Given the description of an element on the screen output the (x, y) to click on. 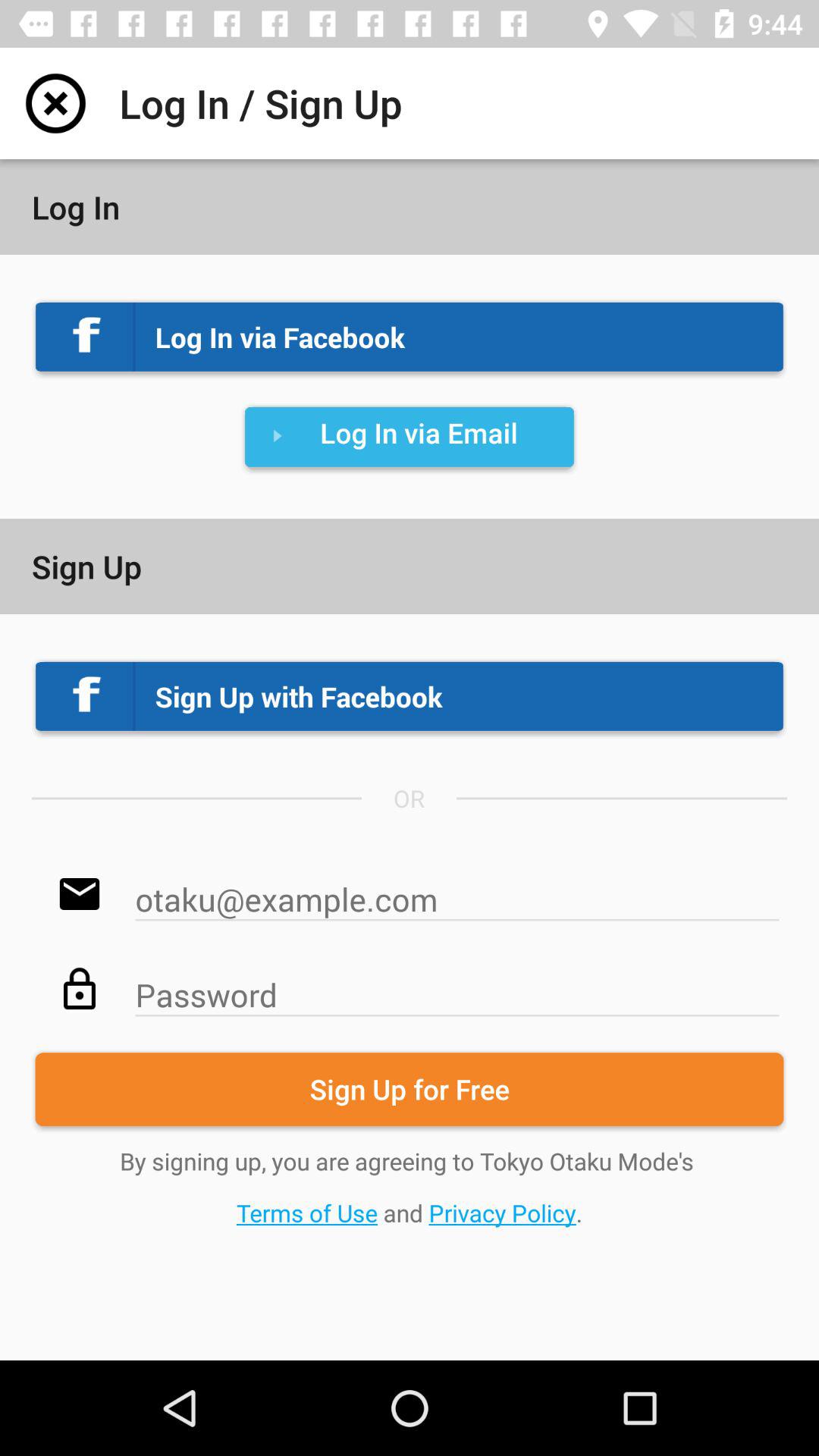
cancel log in/sign up (55, 103)
